Given the description of an element on the screen output the (x, y) to click on. 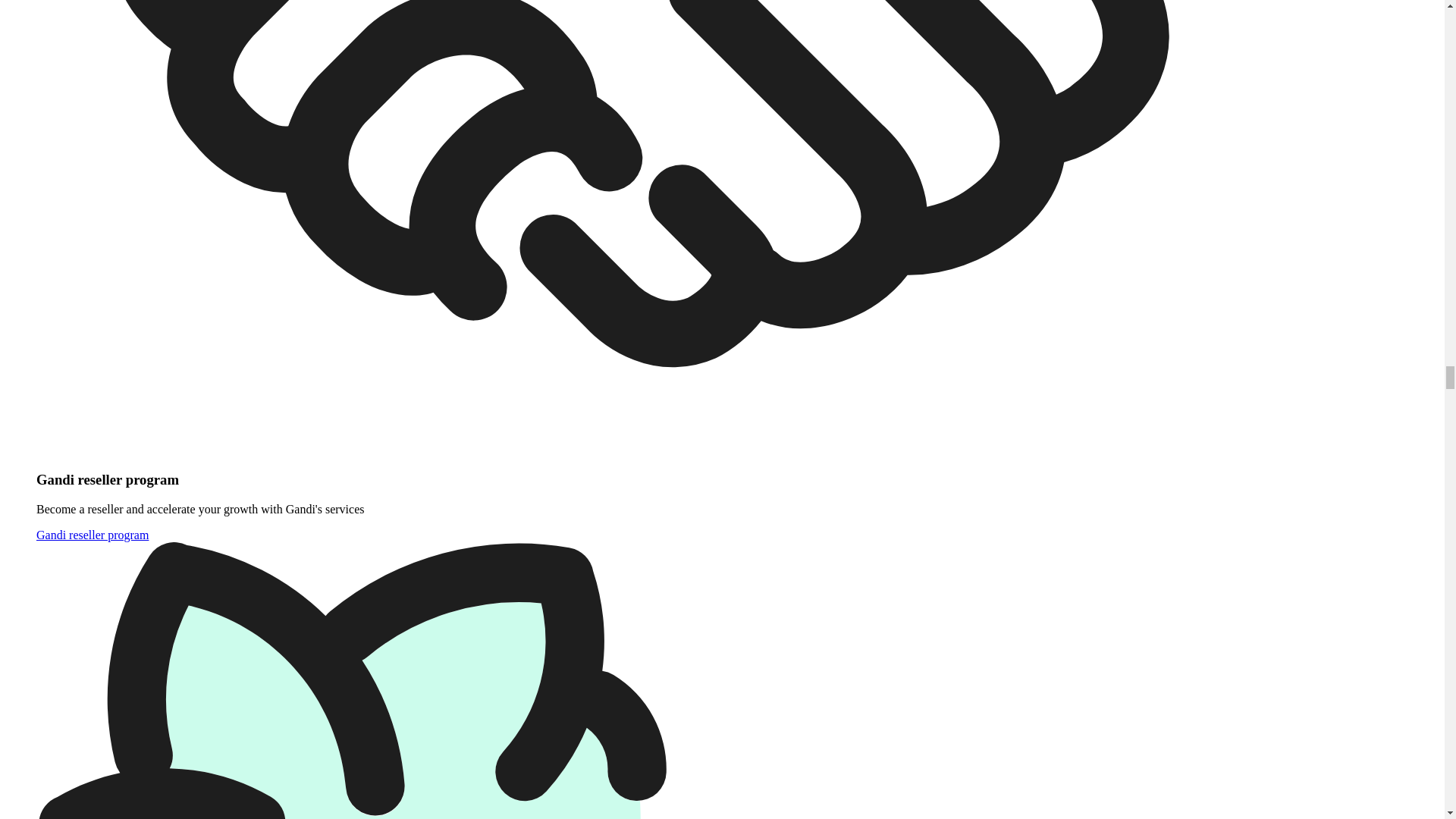
Gandi reseller program (92, 534)
